Given the description of an element on the screen output the (x, y) to click on. 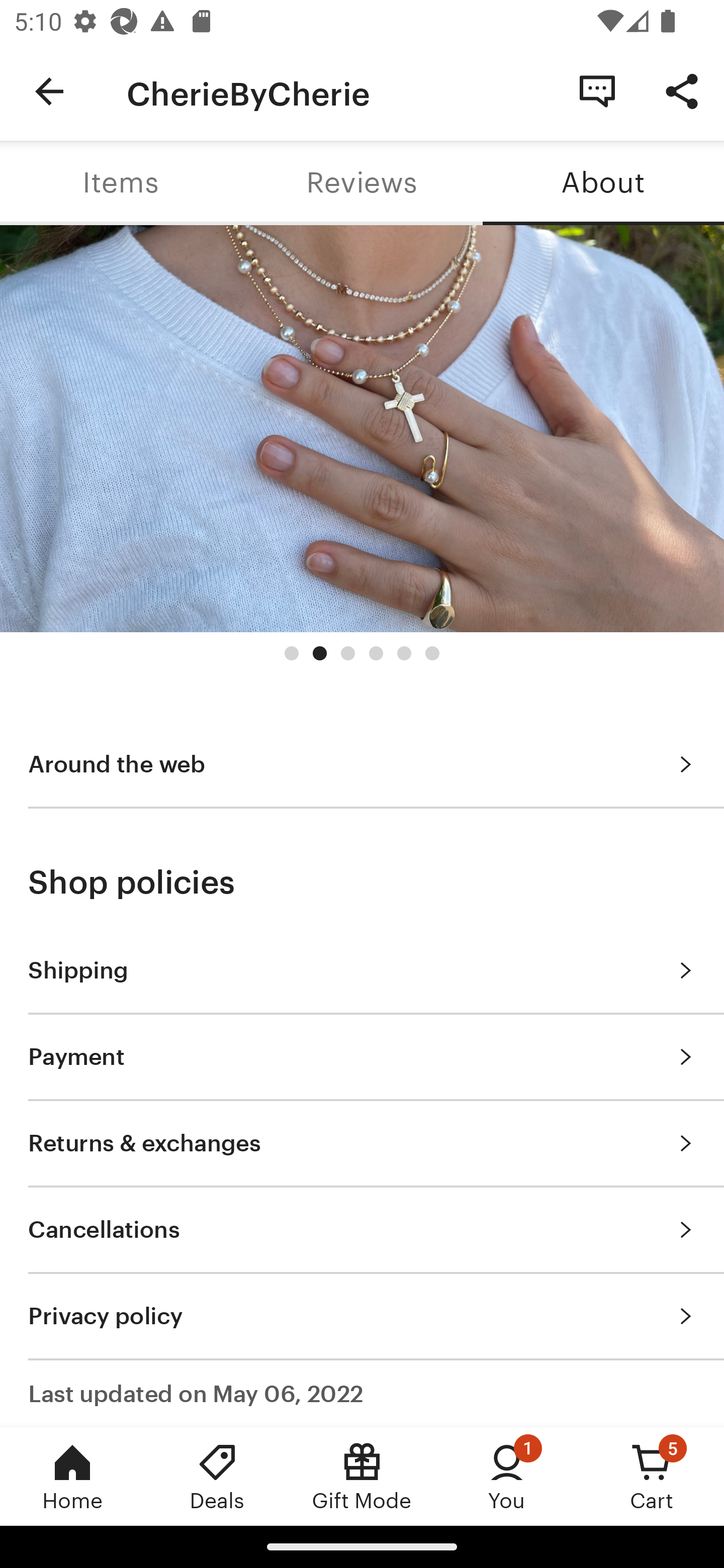
Navigate up (49, 91)
Contact Shop (597, 90)
Share (681, 90)
Items (120, 183)
Reviews (361, 183)
Around the web (362, 763)
Shipping (362, 970)
Payment (362, 1056)
Returns & exchanges (362, 1142)
Cancellations (362, 1228)
Privacy policy (362, 1315)
Deals (216, 1475)
Gift Mode (361, 1475)
You, 1 new notification You (506, 1475)
Cart, 5 new notifications Cart (651, 1475)
